Given the description of an element on the screen output the (x, y) to click on. 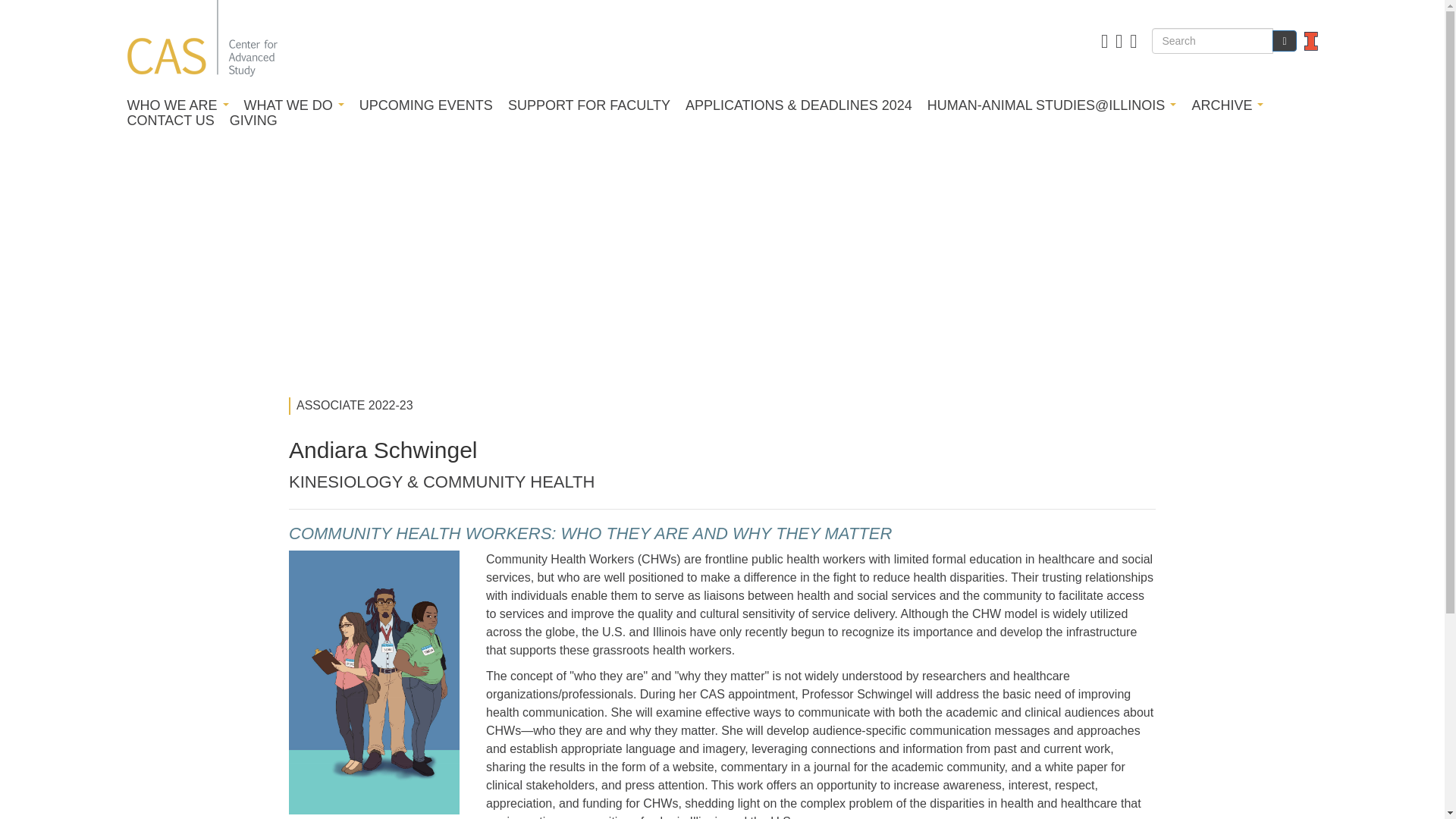
Home (203, 40)
ARCHIVE (1227, 105)
WHO WE ARE (178, 105)
UPCOMING EVENTS (426, 105)
SUPPORT FOR FACULTY (588, 105)
Search (1283, 40)
WHAT WE DO (293, 105)
